Given the description of an element on the screen output the (x, y) to click on. 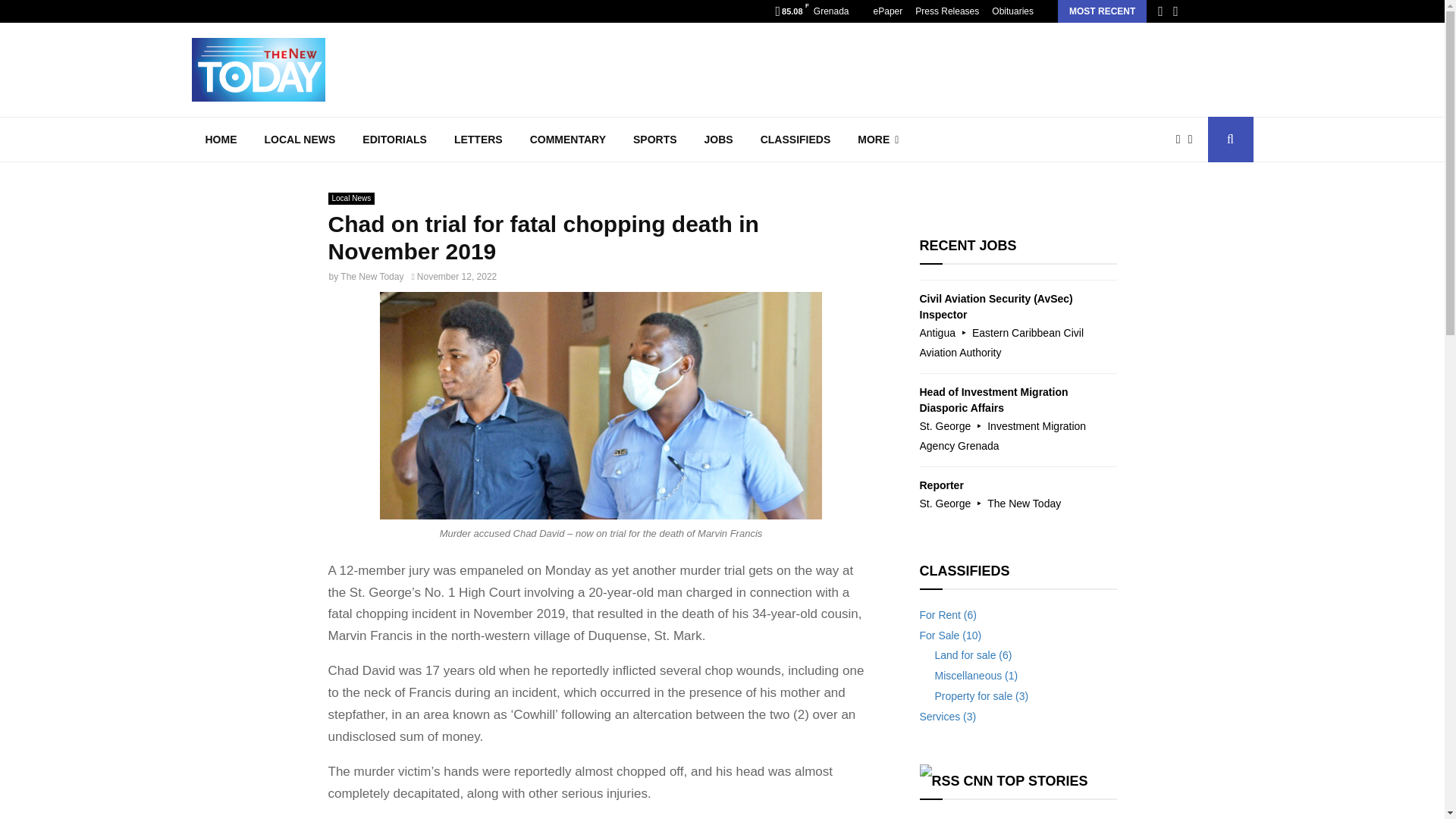
HOME (220, 139)
COMMENTARY (568, 139)
SPORTS (655, 139)
The New Today (371, 276)
EDITORIALS (395, 139)
LOCAL NEWS (299, 139)
CLASSIFIEDS (795, 139)
Obituaries (1012, 11)
ePaper (887, 11)
LETTERS (478, 139)
JOBS (718, 139)
Press Releases (946, 11)
Local News (350, 198)
MORE (878, 139)
